Given the description of an element on the screen output the (x, y) to click on. 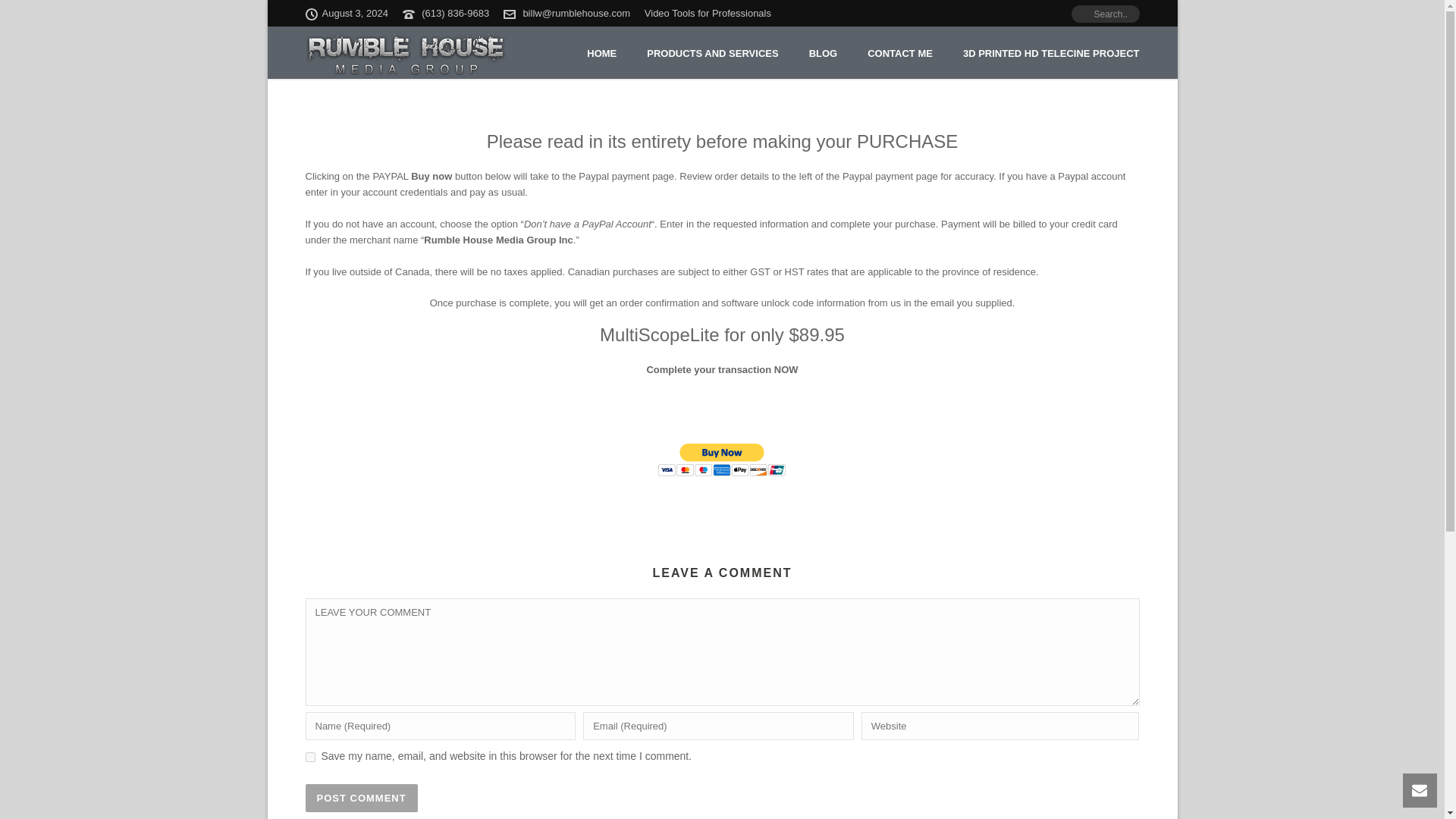
3D PRINTED HD TELECINE PROJECT (1050, 54)
POST COMMENT (360, 797)
BLOG (823, 54)
CONTACT ME (899, 54)
CONTACT ME (899, 54)
BLOG (823, 54)
3D PRINTED HD TELECINE PROJECT (1050, 54)
HOME (601, 54)
POST COMMENT (360, 797)
PRODUCTS AND SERVICES (712, 54)
yes (309, 757)
HOME (601, 54)
PRODUCTS AND SERVICES (712, 54)
